Given the description of an element on the screen output the (x, y) to click on. 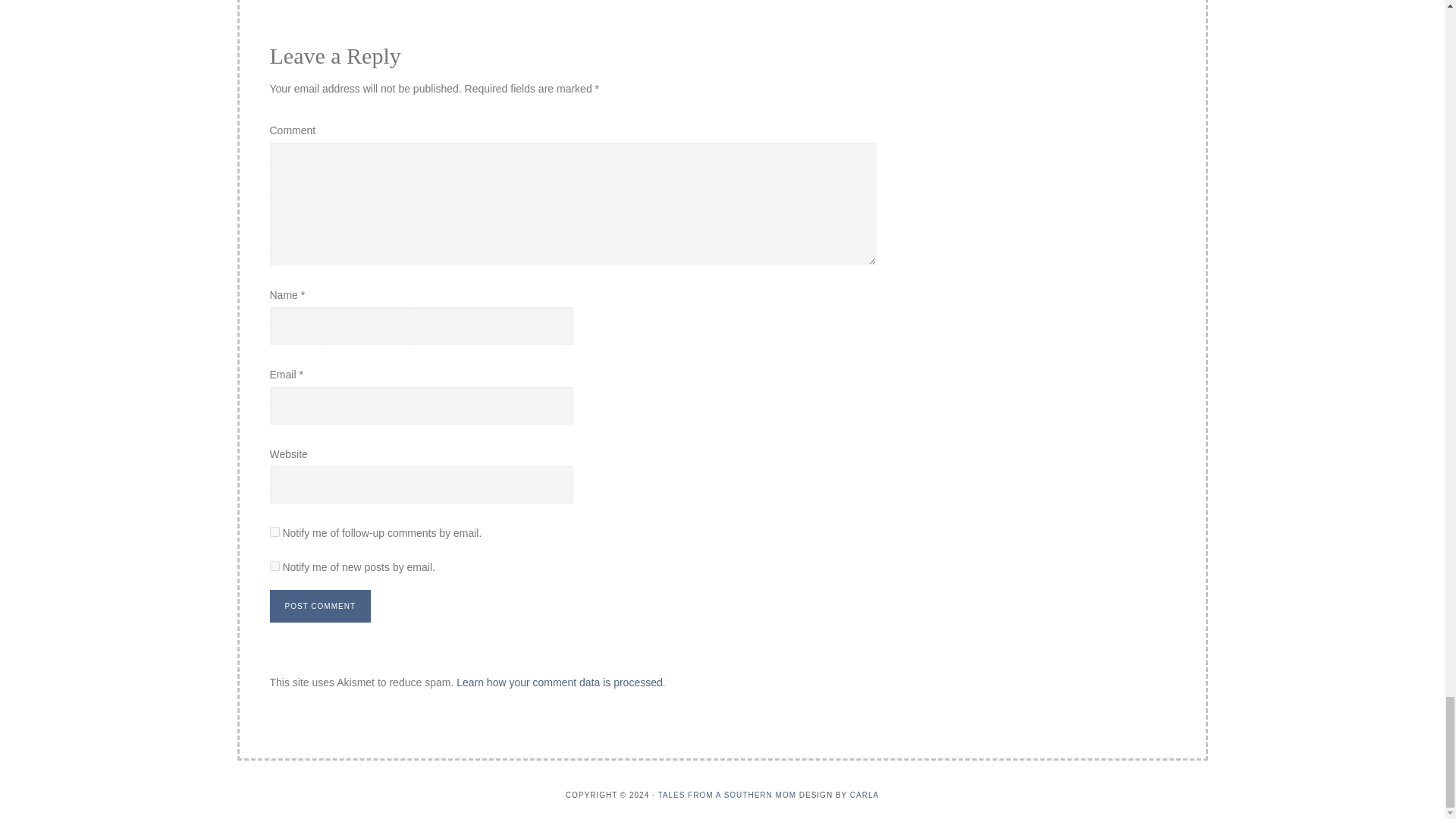
Post Comment (320, 605)
subscribe (274, 532)
subscribe (274, 565)
